Given the description of an element on the screen output the (x, y) to click on. 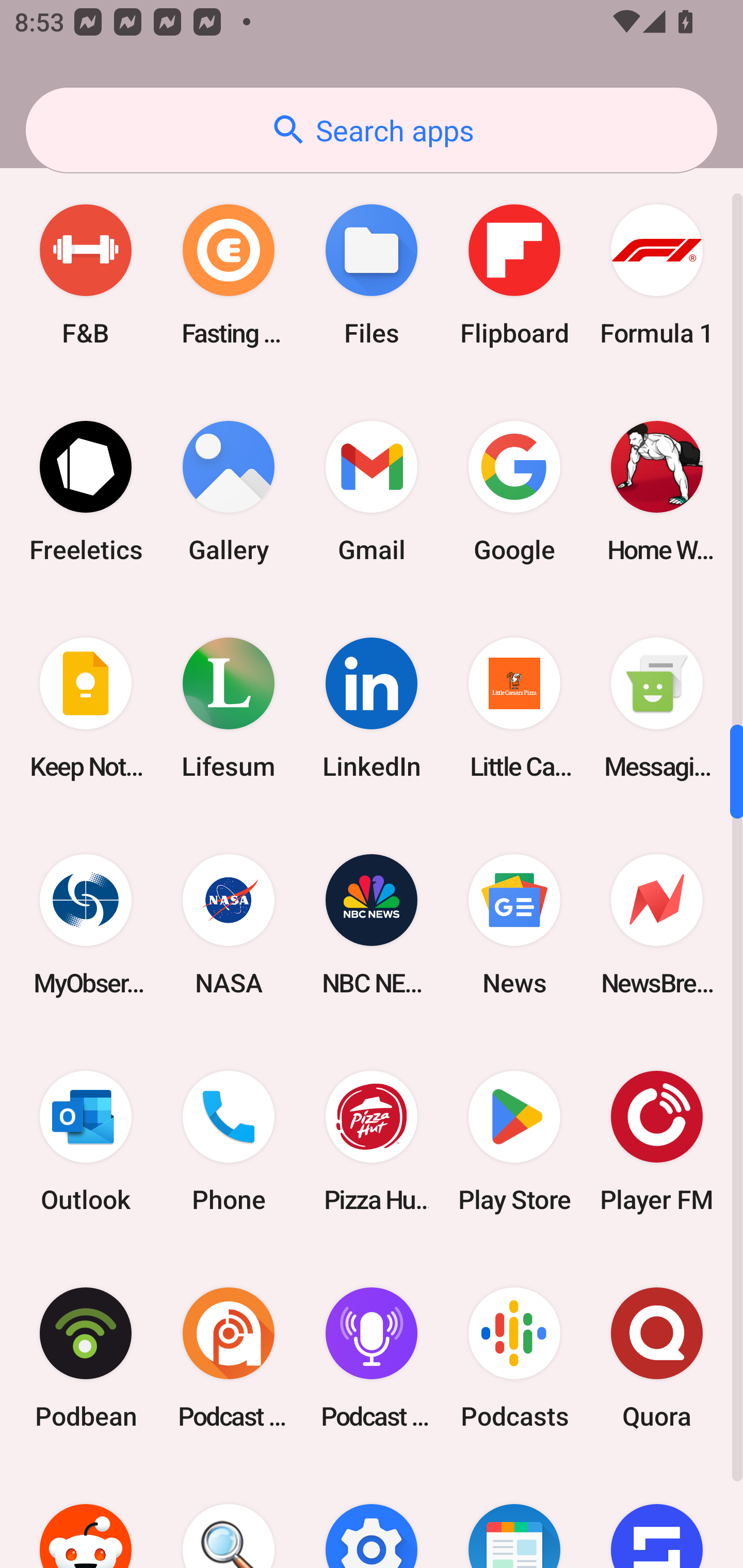
  Search apps (371, 130)
F&B (85, 274)
Fasting Coach (228, 274)
Files (371, 274)
Flipboard (514, 274)
Formula 1 (656, 274)
Freeletics (85, 491)
Gallery (228, 491)
Gmail (371, 491)
Google (514, 491)
Home Workout (656, 491)
Keep Notes (85, 708)
Lifesum (228, 708)
LinkedIn (371, 708)
Little Caesars Pizza (514, 708)
Messaging (656, 708)
MyObservatory (85, 924)
NASA (228, 924)
NBC NEWS (371, 924)
News (514, 924)
NewsBreak (656, 924)
Outlook (85, 1141)
Phone (228, 1141)
Pizza Hut HK & Macau (371, 1141)
Play Store (514, 1141)
Player FM (656, 1141)
Podbean (85, 1357)
Podcast Addict (228, 1357)
Podcast Player (371, 1357)
Podcasts (514, 1357)
Quora (656, 1357)
Reddit (85, 1517)
Search (228, 1517)
Settings (371, 1517)
SmartNews (514, 1517)
Sofascore (656, 1517)
